Given the description of an element on the screen output the (x, y) to click on. 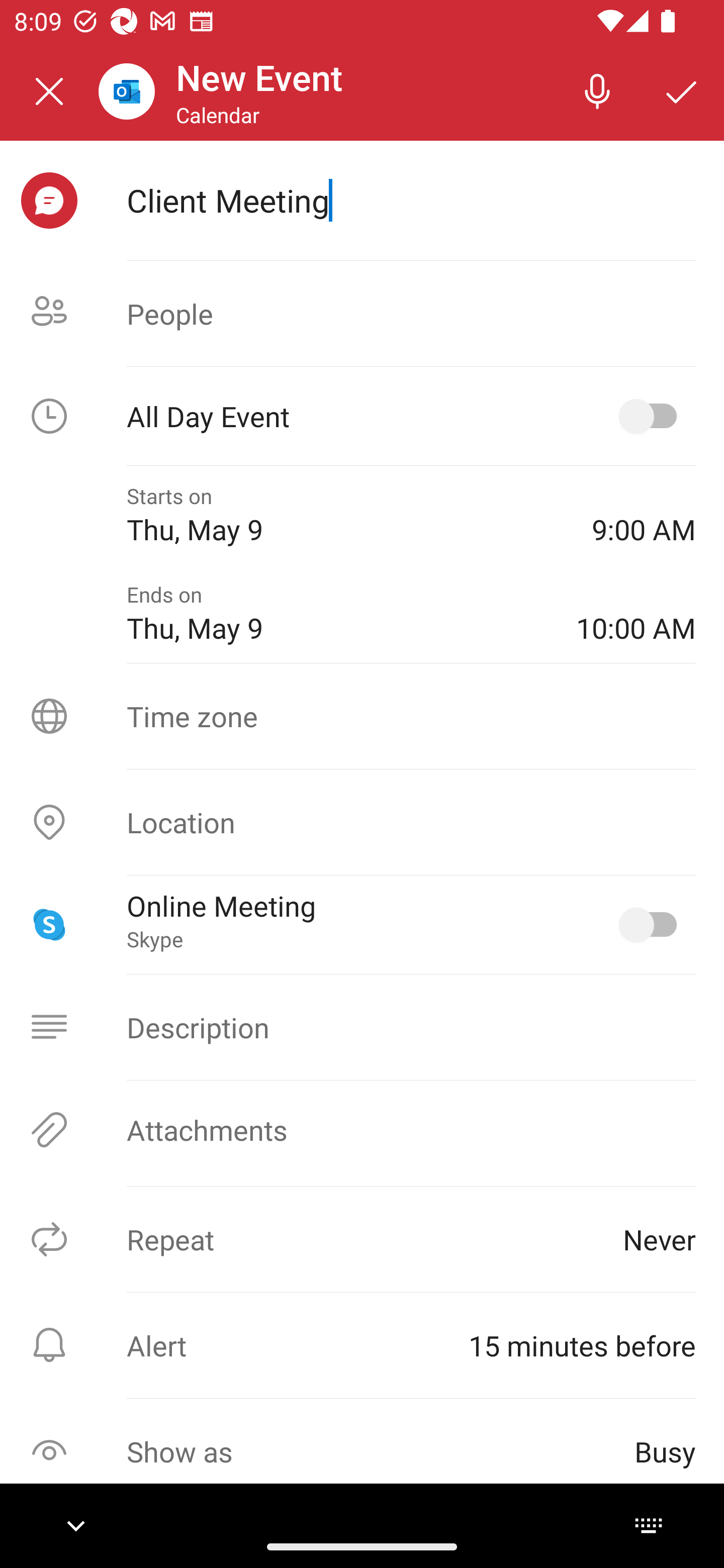
Close (49, 91)
Save (681, 90)
Client Meeting (410, 200)
meeting selected, event icon picker (48, 200)
People (362, 313)
All Day Event (362, 415)
Starts on Thu, May 9 (344, 514)
9:00 AM (643, 514)
Ends on Thu, May 9 (336, 613)
10:00 AM (635, 613)
Time zone (362, 715)
Location (362, 821)
Online Meeting, Skype selected (651, 923)
Description (362, 1026)
Attachments (362, 1129)
Repeat Never (362, 1239)
Alert ⁨15 minutes before (362, 1345)
Show as Busy (362, 1450)
